Given the description of an element on the screen output the (x, y) to click on. 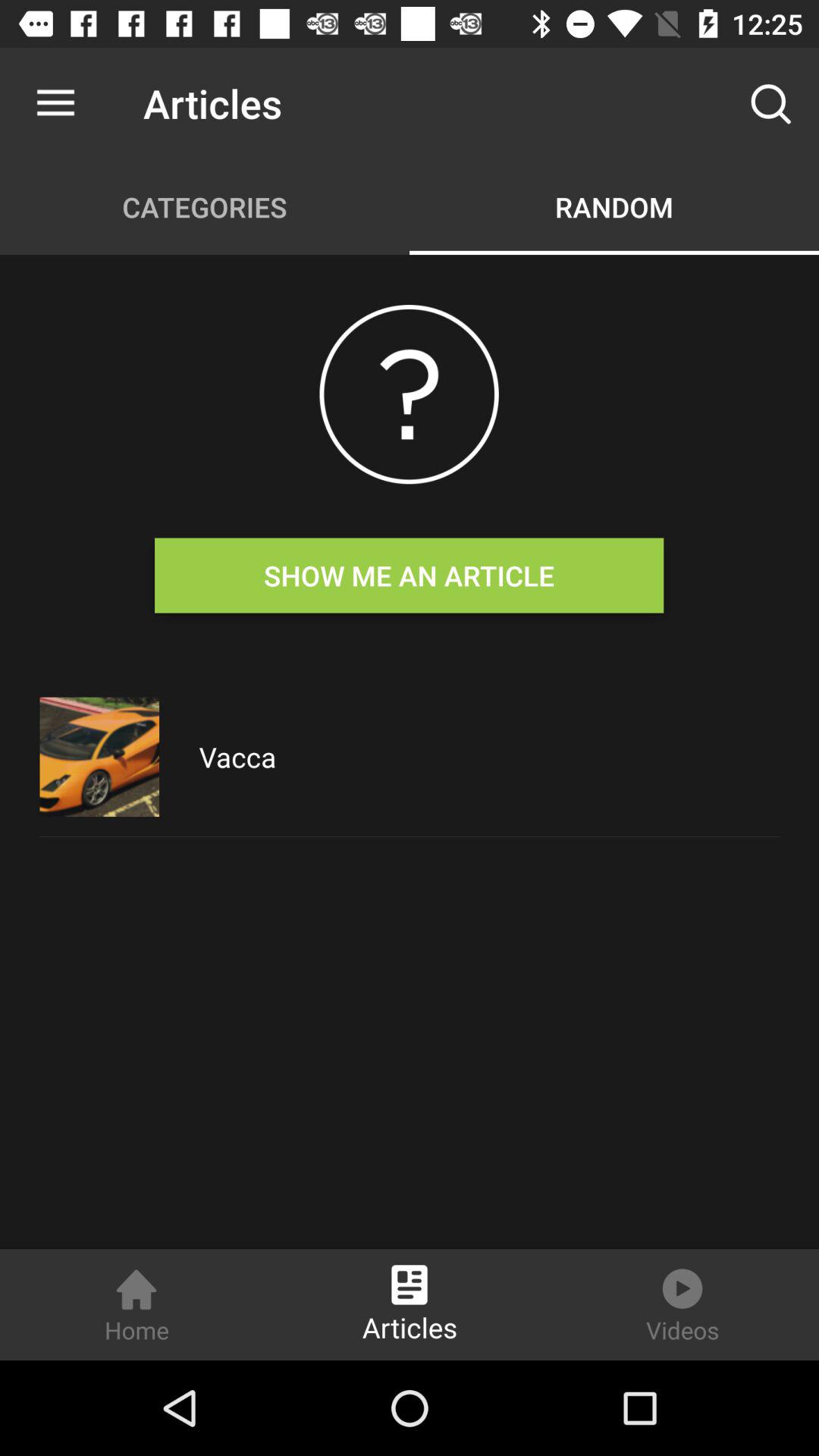
turn off the show me an item (408, 575)
